Given the description of an element on the screen output the (x, y) to click on. 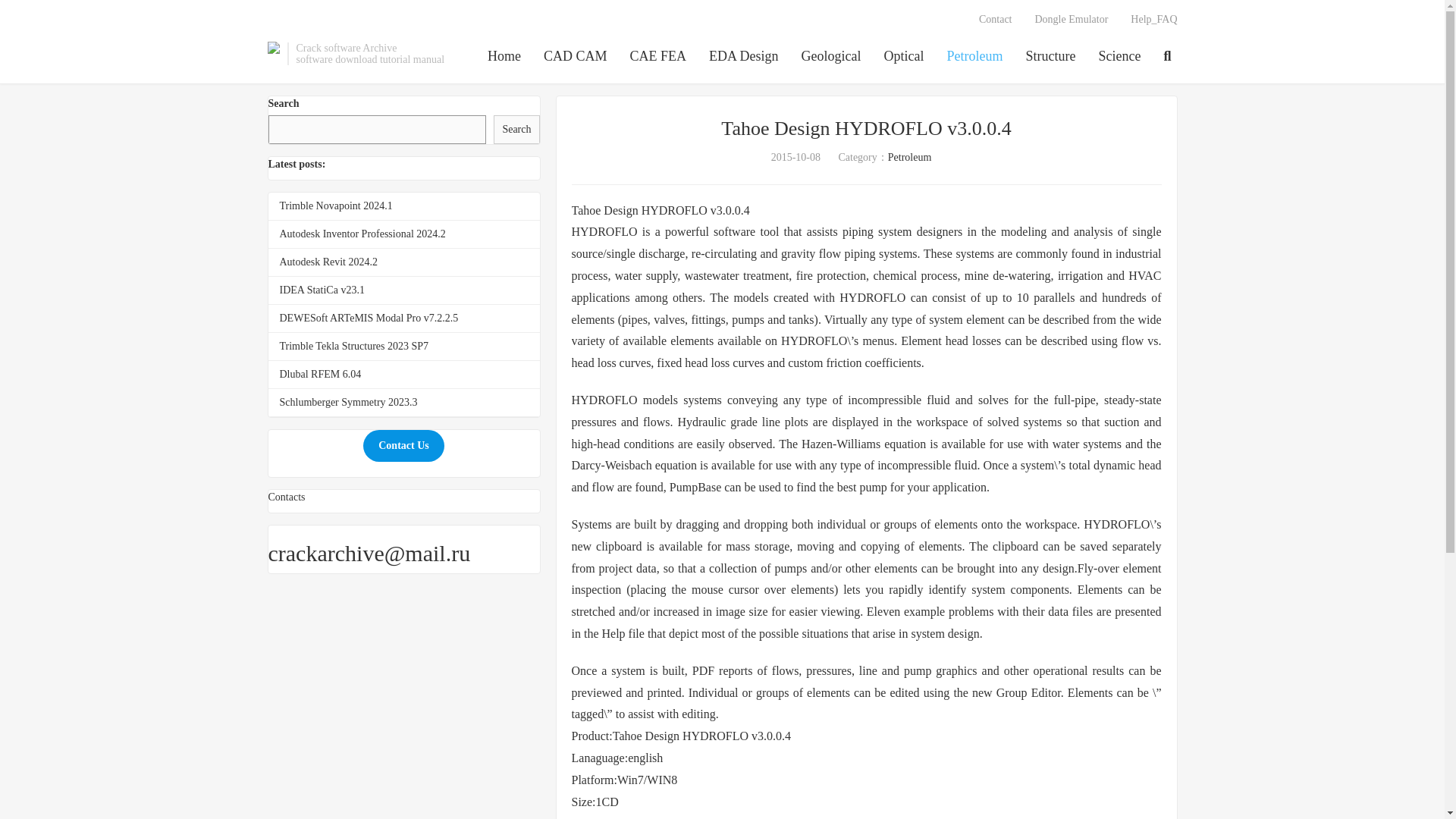
Contact (994, 19)
Petroleum (909, 156)
Geological (831, 56)
Science (1120, 56)
Autodesk Revit 2024.2 (328, 261)
Structure (1050, 56)
Dlubal RFEM 6.04 (320, 374)
Schlumberger Symmetry 2023.3 (347, 401)
CAE FEA (658, 56)
Petroleum (975, 56)
Autodesk Inventor Professional 2024.2 (362, 233)
Home (504, 56)
CAD CAM (575, 56)
Tahoe Design HYDROFLO v3.0.0.4 (865, 128)
DEWESoft ARTeMIS Modal Pro v7.2.2.5 (368, 317)
